Given the description of an element on the screen output the (x, y) to click on. 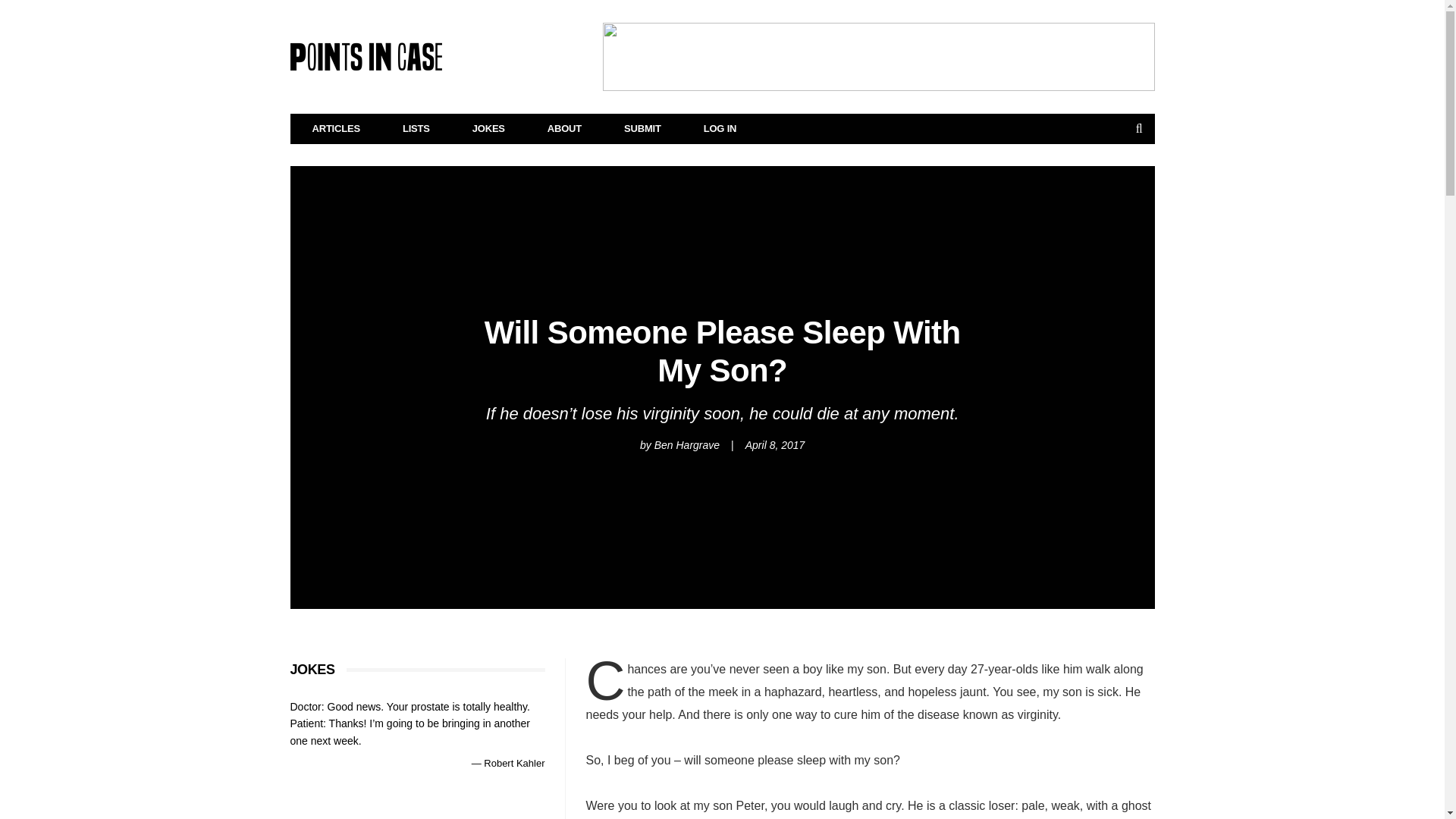
Robert Kahler (513, 763)
Posts by Ben Hargrave (686, 444)
ARTICLES (336, 128)
LISTS (416, 128)
Ben Hargrave (686, 444)
SUBMIT (642, 128)
LOG IN (720, 128)
ABOUT (563, 128)
JOKES (488, 128)
